Given the description of an element on the screen output the (x, y) to click on. 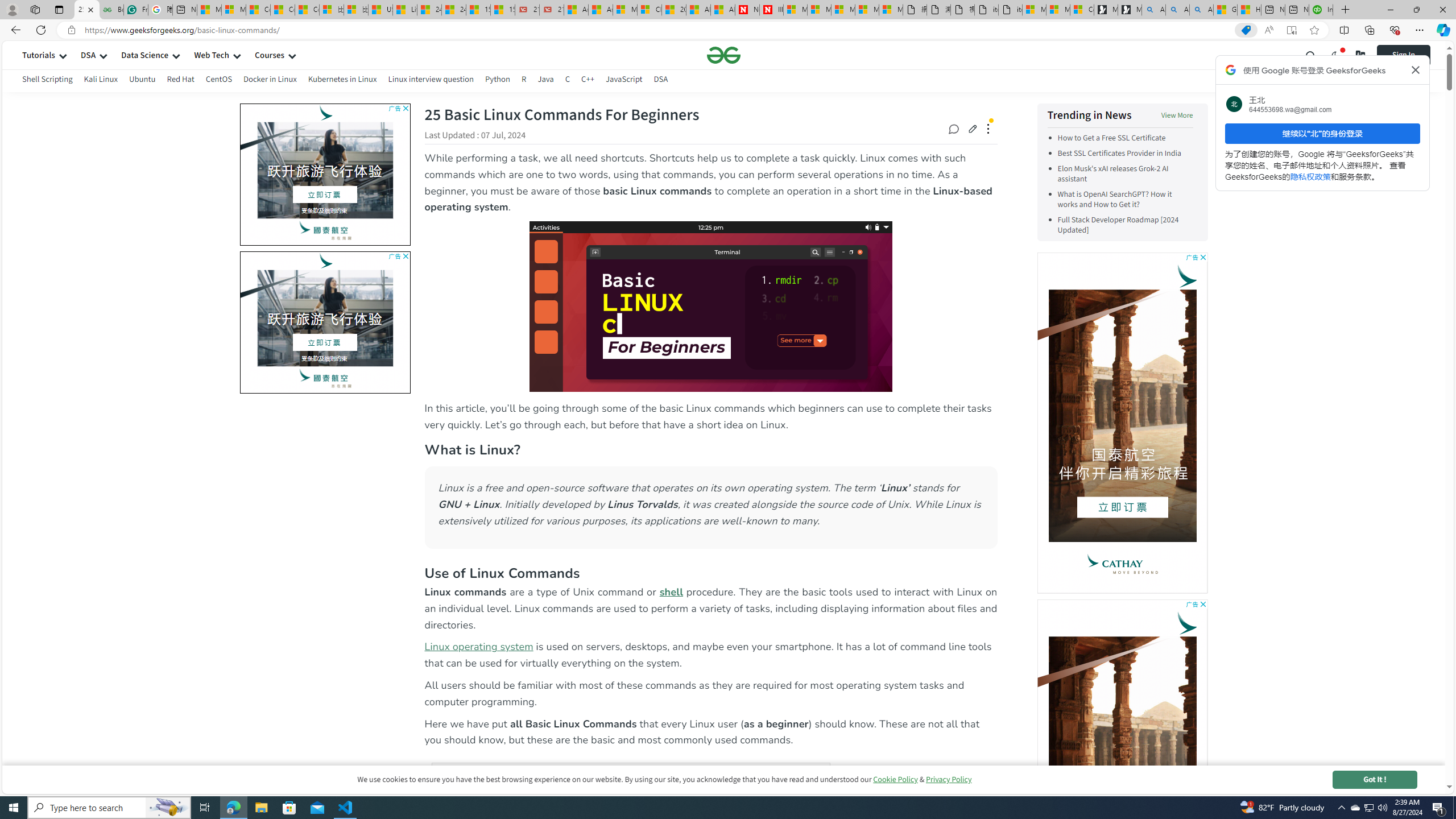
Ubuntu (142, 80)
Alabama high school quarterback dies - Search Videos (1201, 9)
Web Tech (211, 55)
AutomationID: gradient2 (156, 319)
What is OpenAI SearchGPT? How it works and How to Get it? (1114, 199)
Courses (268, 55)
Illness news & latest pictures from Newsweek.com (770, 9)
AutomationID: bg4 (156, 319)
Tutorials (38, 55)
